Given the description of an element on the screen output the (x, y) to click on. 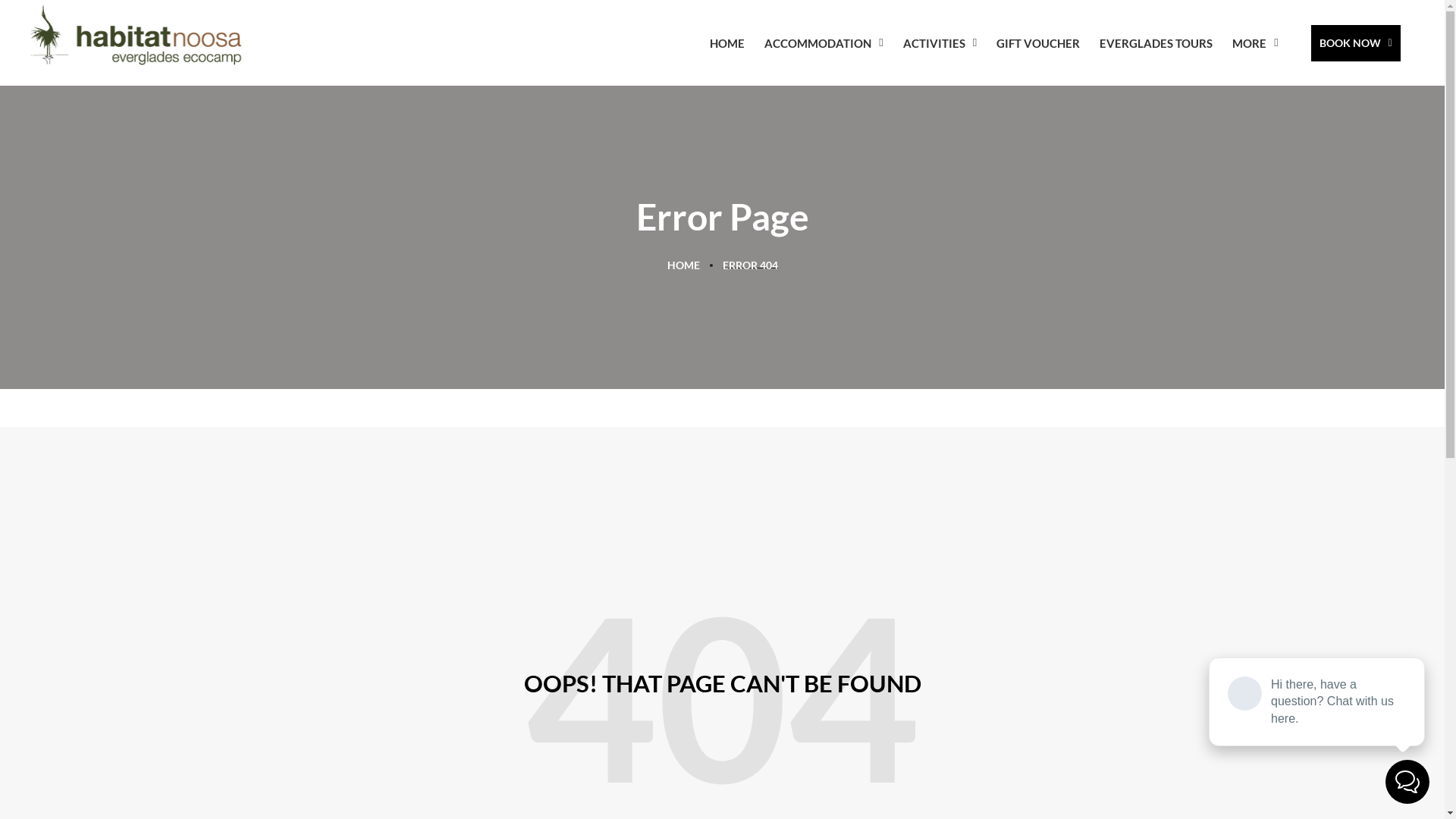
EVERGLADES TOURS Element type: text (1155, 42)
MORE Element type: text (1255, 42)
GIFT VOUCHER Element type: text (1038, 42)
ACCOMMODATION Element type: text (823, 42)
ACTIVITIES Element type: text (939, 42)
BOOK NOW Element type: text (1355, 42)
HOME Element type: text (683, 264)
HOME Element type: text (726, 42)
